Given the description of an element on the screen output the (x, y) to click on. 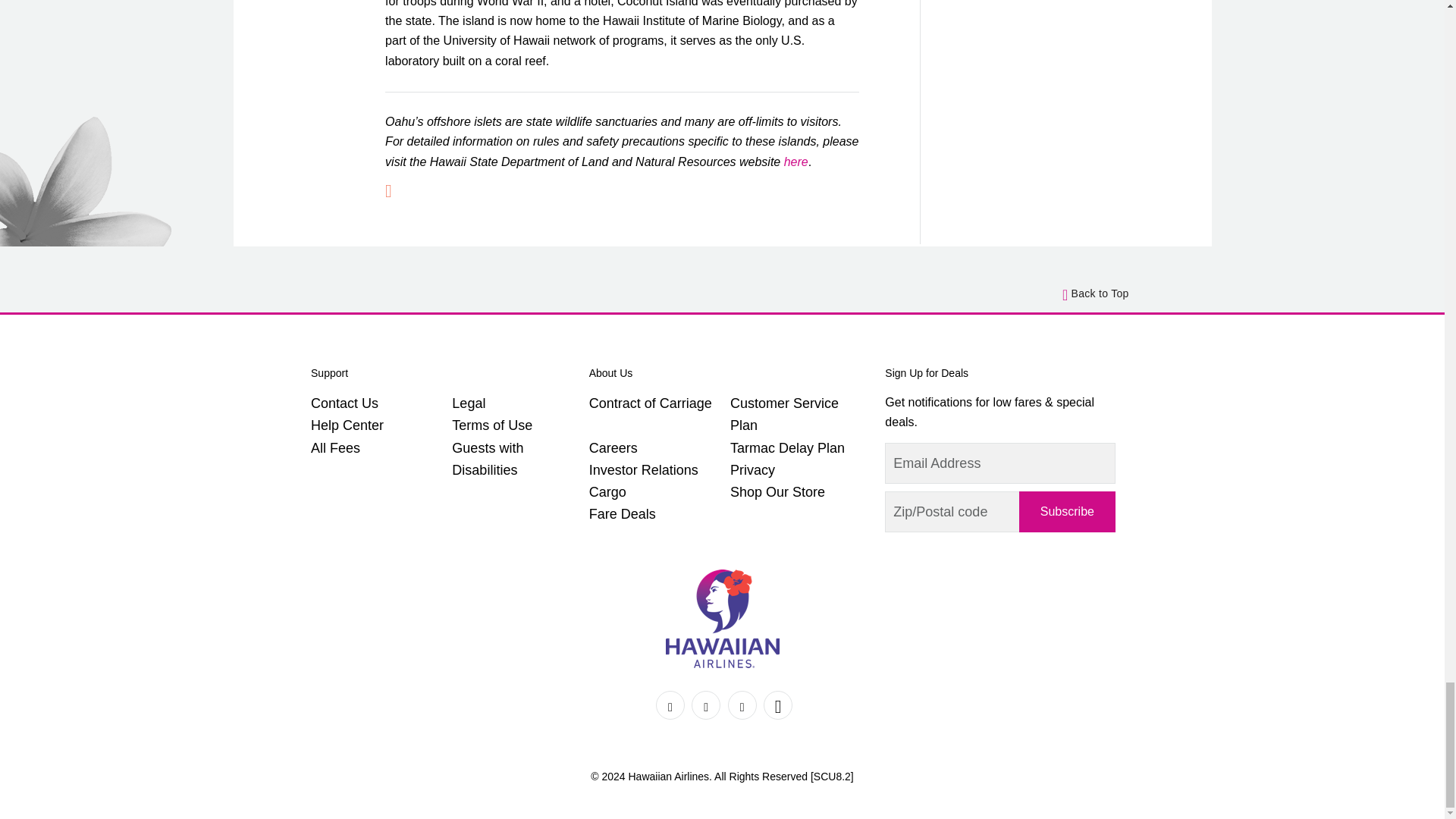
Visit us on YouTube (777, 705)
Visit us on Twitter (705, 705)
Back to Top (1095, 292)
Legal (467, 403)
Visit us on Facebook (670, 705)
Contact Us (344, 403)
Visit us on Instagram (742, 705)
